Given the description of an element on the screen output the (x, y) to click on. 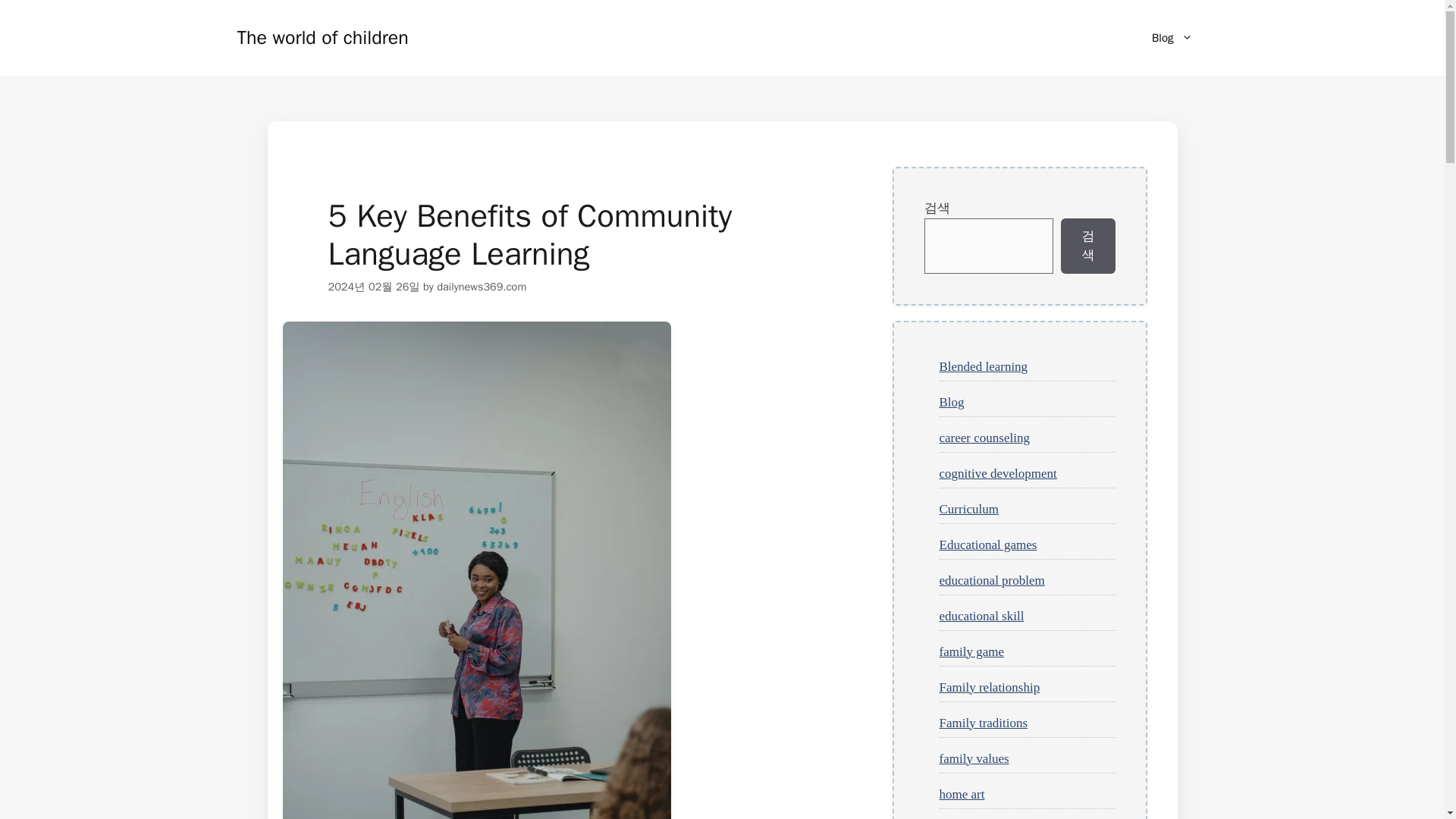
Blog (1172, 37)
View all posts by dailynews369.com (480, 286)
dailynews369.com (480, 286)
The world of children (321, 37)
